Given the description of an element on the screen output the (x, y) to click on. 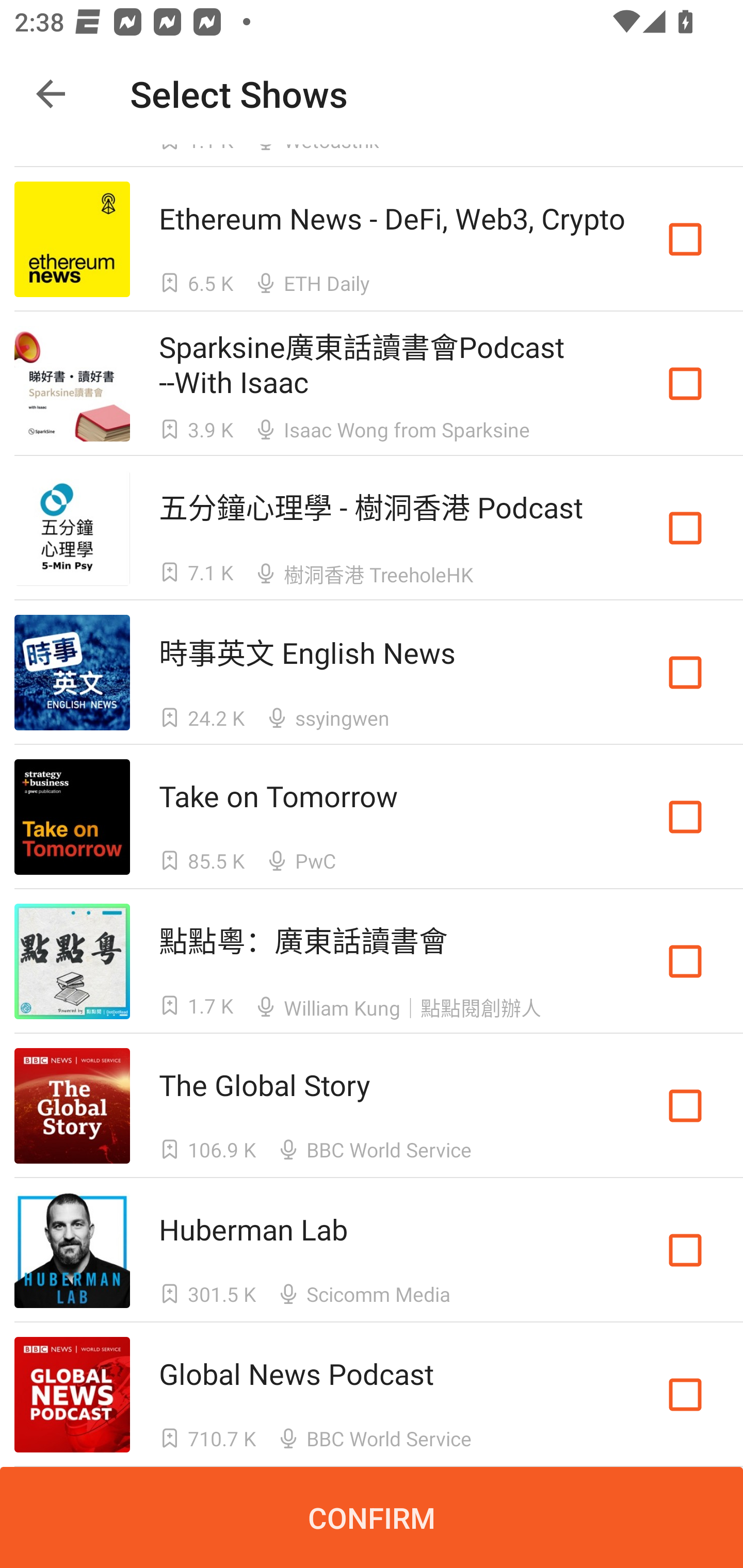
Navigate up (50, 93)
Take on Tomorrow Take on Tomorrow  85.5 K  PwC (371, 816)
CONFIRM (371, 1517)
